Given the description of an element on the screen output the (x, y) to click on. 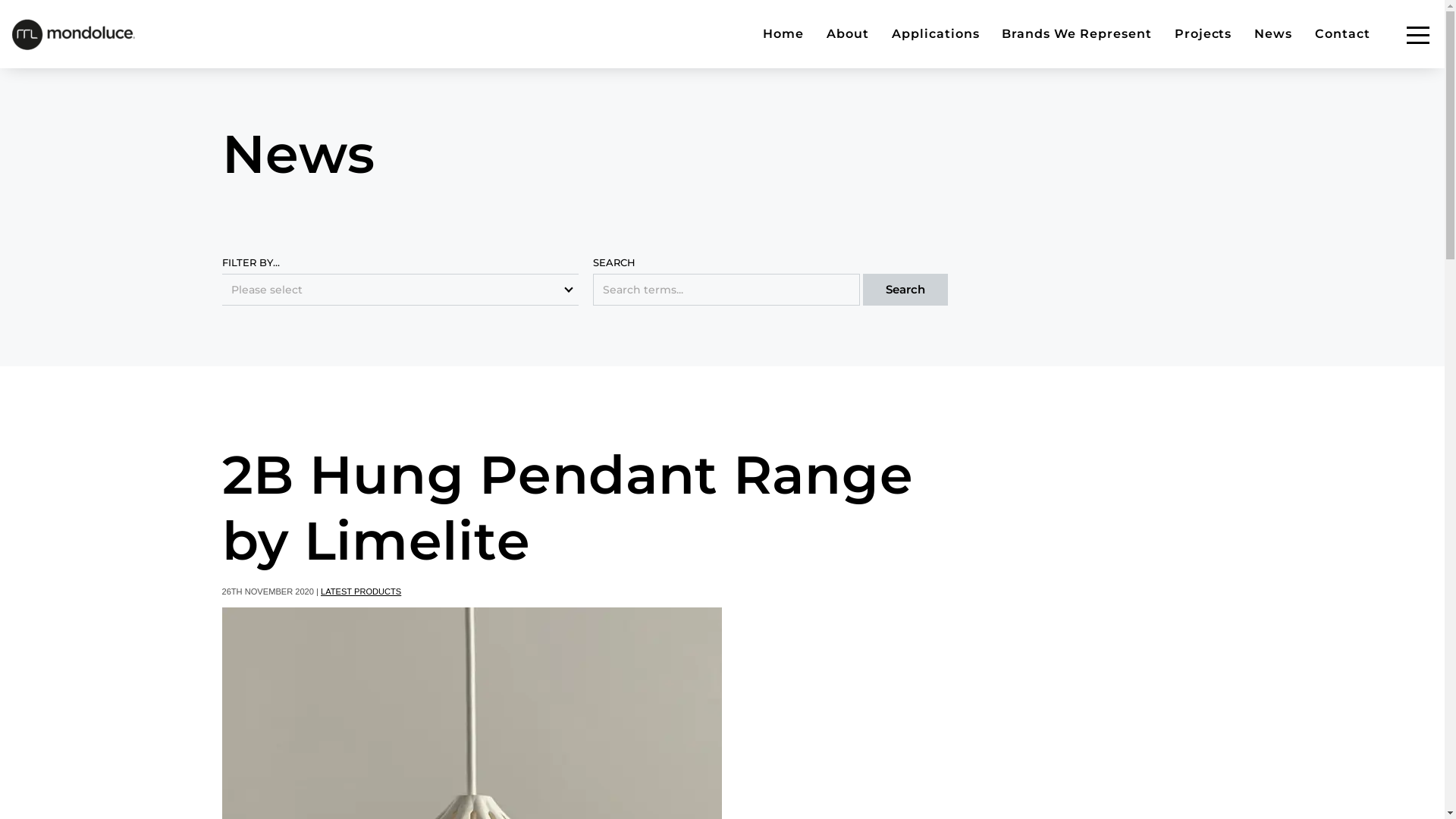
About Element type: text (847, 33)
Search Element type: text (904, 288)
Brands We Represent Element type: text (1075, 33)
Home Element type: text (783, 33)
LATEST PRODUCTS Element type: text (360, 591)
Applications Element type: text (935, 33)
News Element type: text (1272, 33)
Projects Element type: text (1203, 33)
Contact Element type: text (1342, 33)
Menu Element type: text (1417, 34)
